Given the description of an element on the screen output the (x, y) to click on. 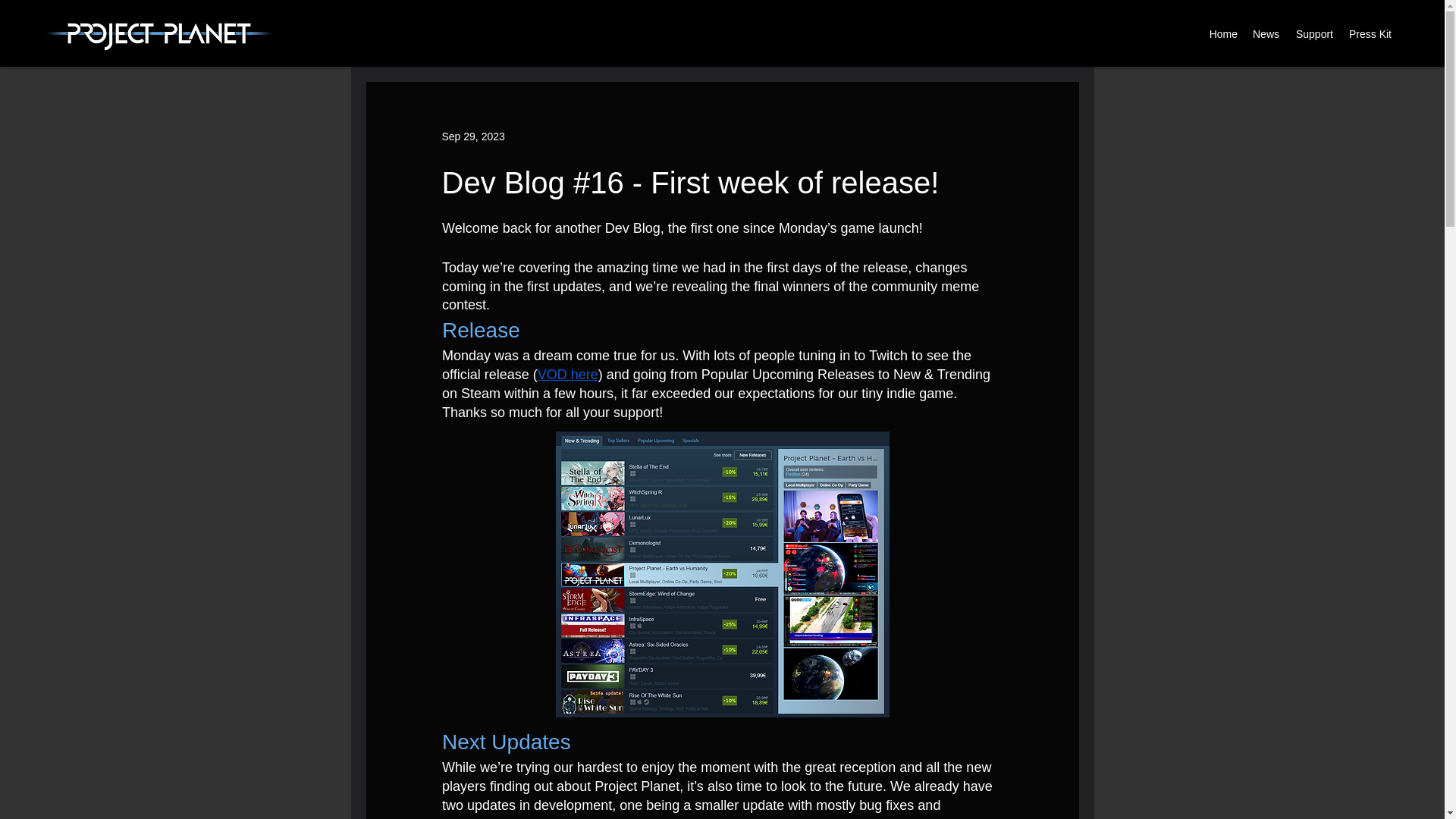
Support (1313, 33)
Press Kit (1369, 33)
News (1265, 33)
Home (1222, 33)
VOD here (566, 374)
Sep 29, 2023 (472, 136)
